Given the description of an element on the screen output the (x, y) to click on. 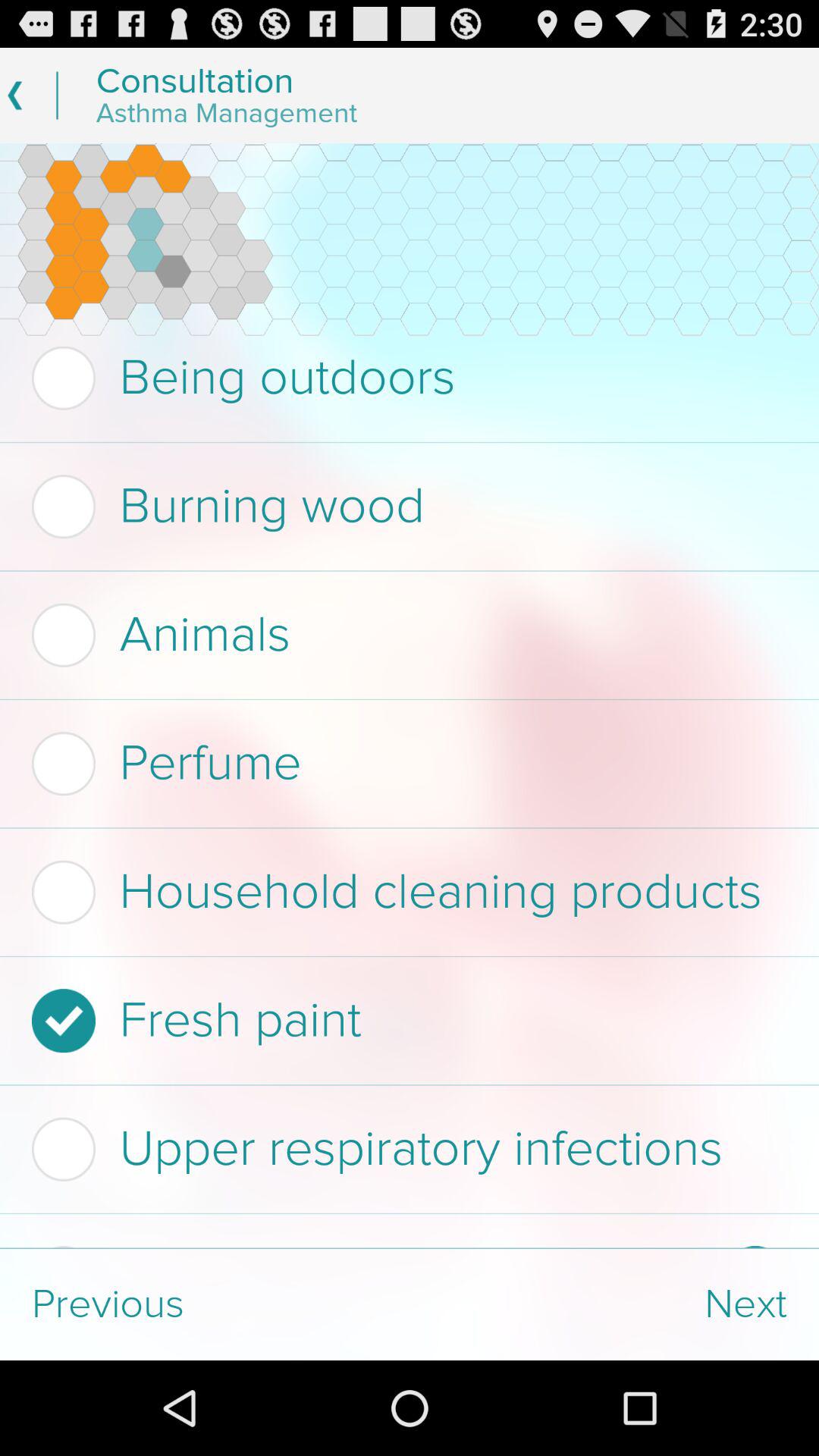
tap the upper respiratory infections icon (405, 1149)
